Given the description of an element on the screen output the (x, y) to click on. 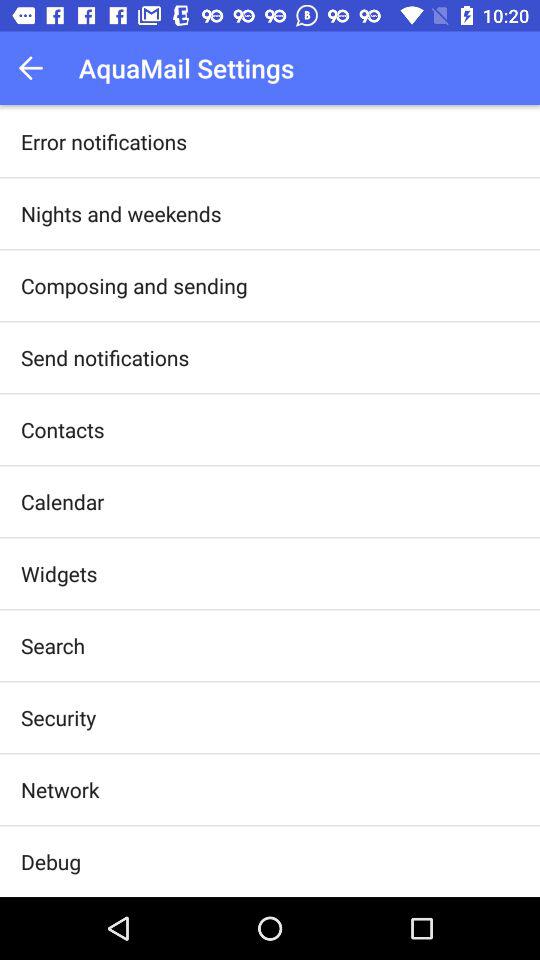
launch icon above error notifications icon (36, 68)
